Given the description of an element on the screen output the (x, y) to click on. 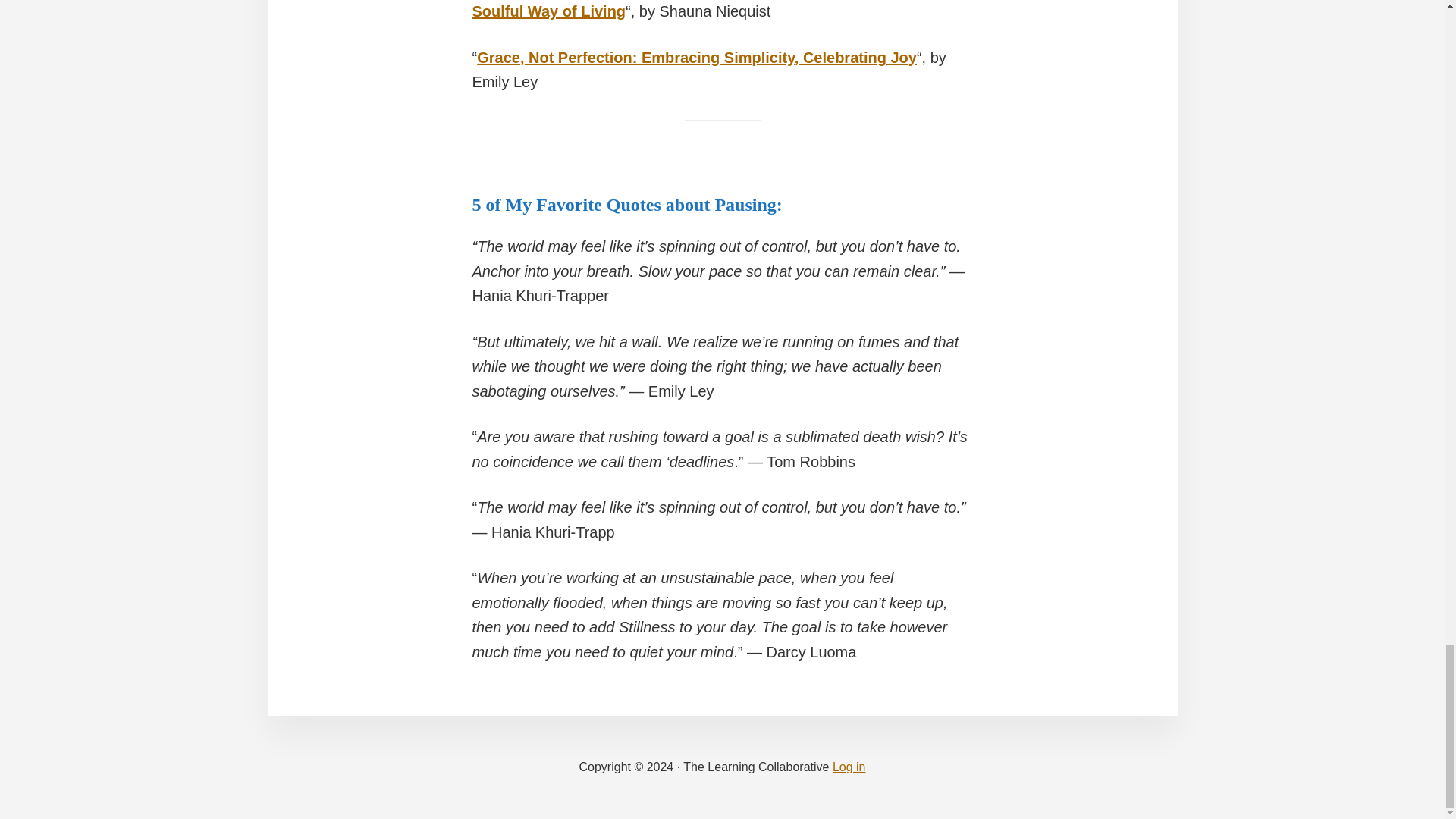
Log in (849, 766)
Grace, Not Perfection: Embracing Simplicity, Celebrating Joy (697, 57)
